Given the description of an element on the screen output the (x, y) to click on. 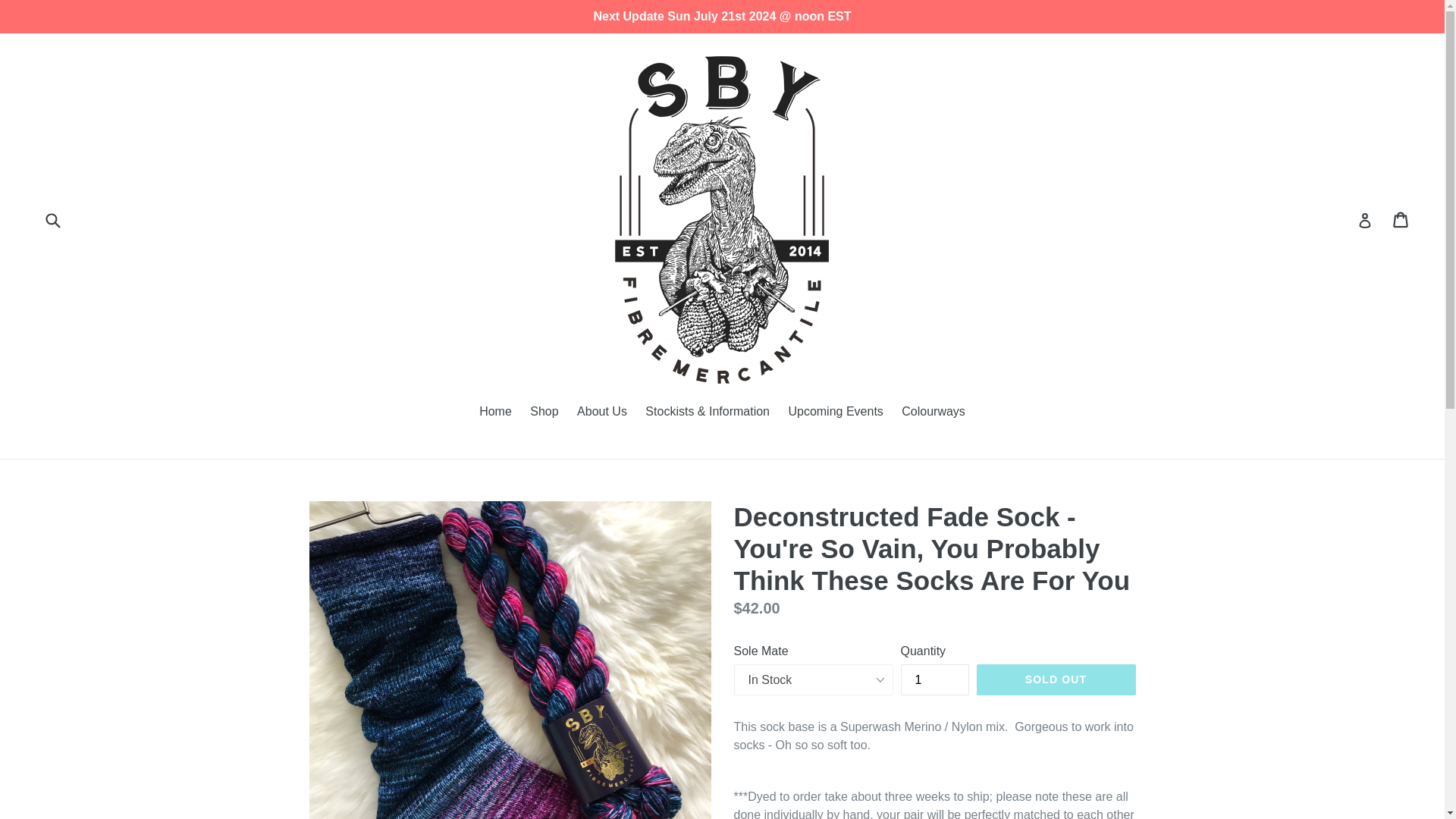
Upcoming Events (834, 412)
Home (495, 412)
About Us (601, 412)
Shop (544, 412)
Colourways (932, 412)
1 (935, 679)
SOLD OUT (1055, 680)
